Given the description of an element on the screen output the (x, y) to click on. 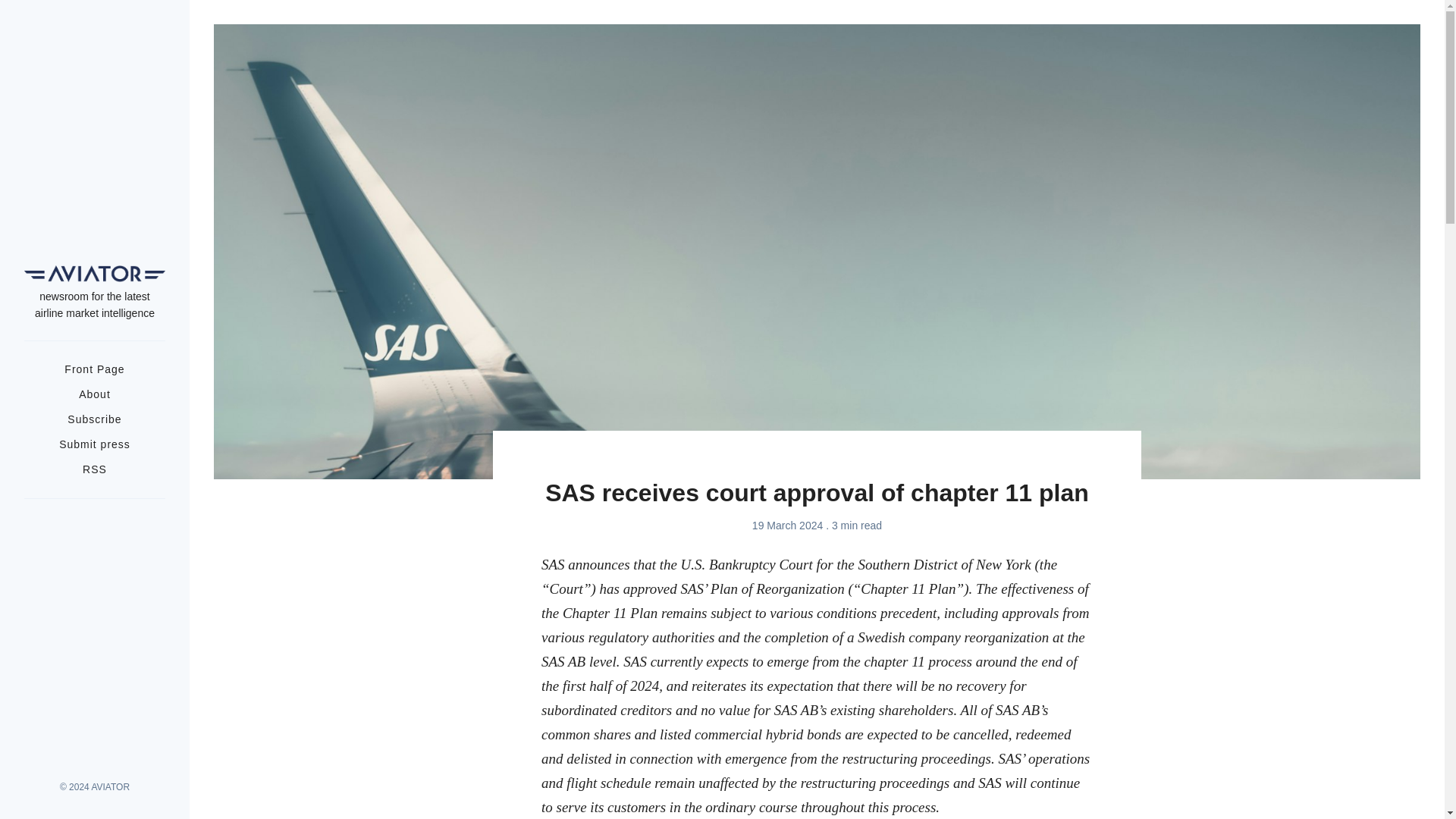
Subscribe (93, 419)
Front Page (93, 369)
RSS (94, 469)
Submit press (95, 444)
About (94, 394)
